Given the description of an element on the screen output the (x, y) to click on. 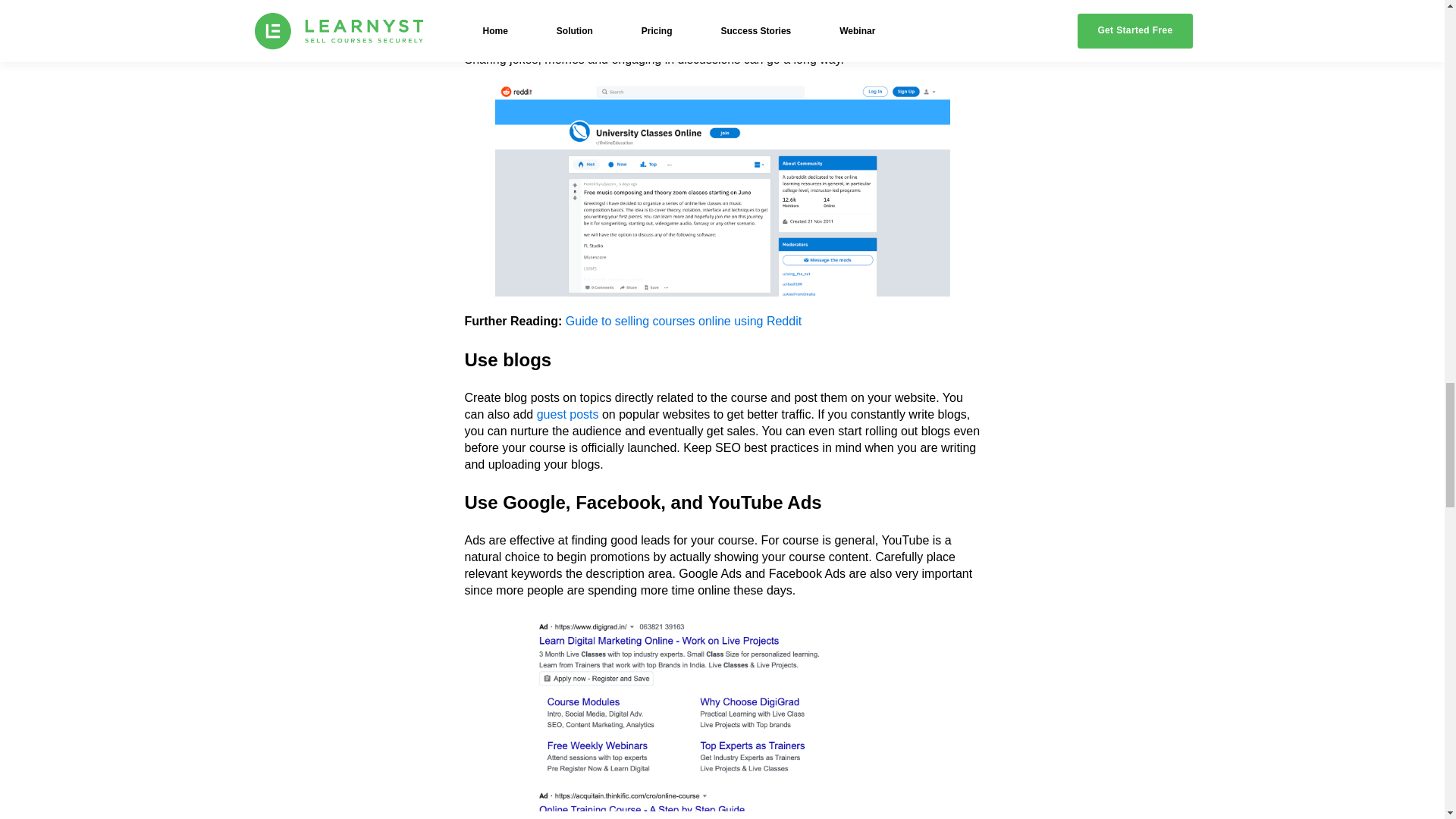
guest posts (567, 413)
Guide to selling courses online using Reddit (684, 320)
Reddit (481, 9)
